Given the description of an element on the screen output the (x, y) to click on. 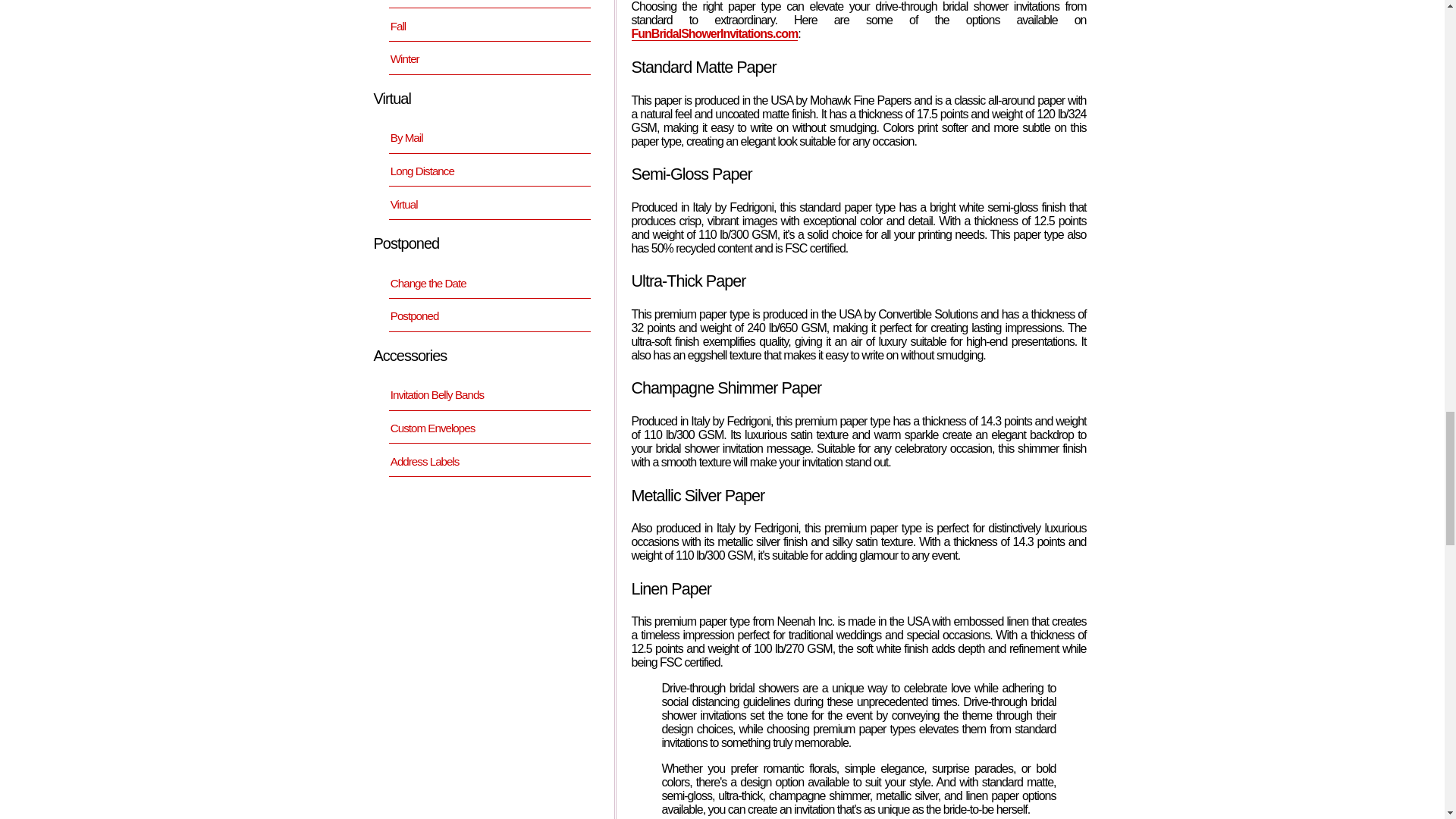
FunBridalShowerInvitations.com (713, 33)
